Given the description of an element on the screen output the (x, y) to click on. 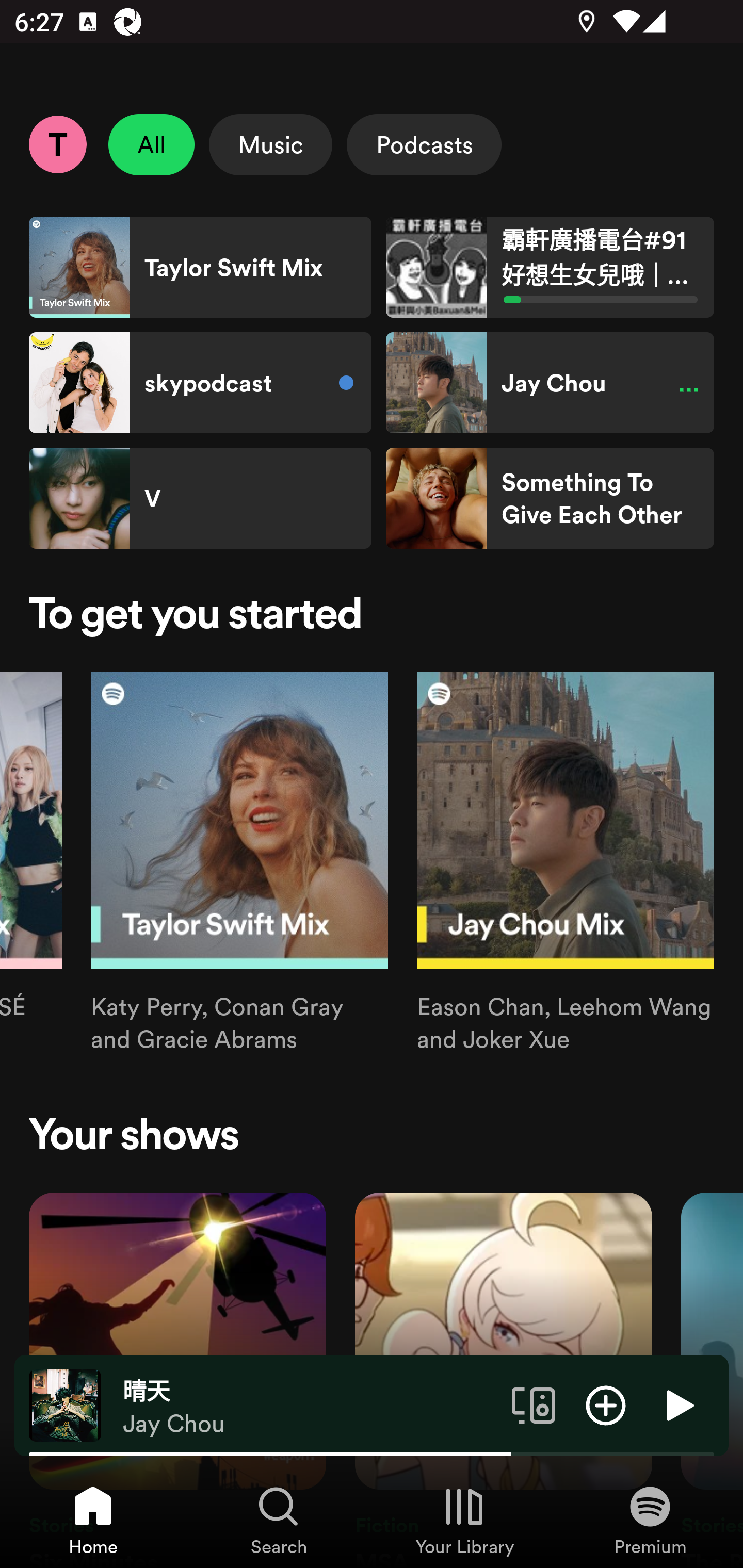
Profile (57, 144)
All Unselect All (151, 144)
Music Select Music (270, 144)
Podcasts Select Podcasts (423, 144)
Taylor Swift Mix Shortcut Taylor Swift Mix (199, 267)
skypodcast Shortcut skypodcast New content (199, 382)
Jay Chou Shortcut Jay Chou Paused (549, 382)
V Shortcut V (199, 498)
晴天 Jay Chou (309, 1405)
The cover art of the currently playing track (64, 1404)
Connect to a device. Opens the devices menu (533, 1404)
Add item (605, 1404)
Play (677, 1404)
Home, Tab 1 of 4 Home Home (92, 1519)
Search, Tab 2 of 4 Search Search (278, 1519)
Your Library, Tab 3 of 4 Your Library Your Library (464, 1519)
Premium, Tab 4 of 4 Premium Premium (650, 1519)
